Given the description of an element on the screen output the (x, y) to click on. 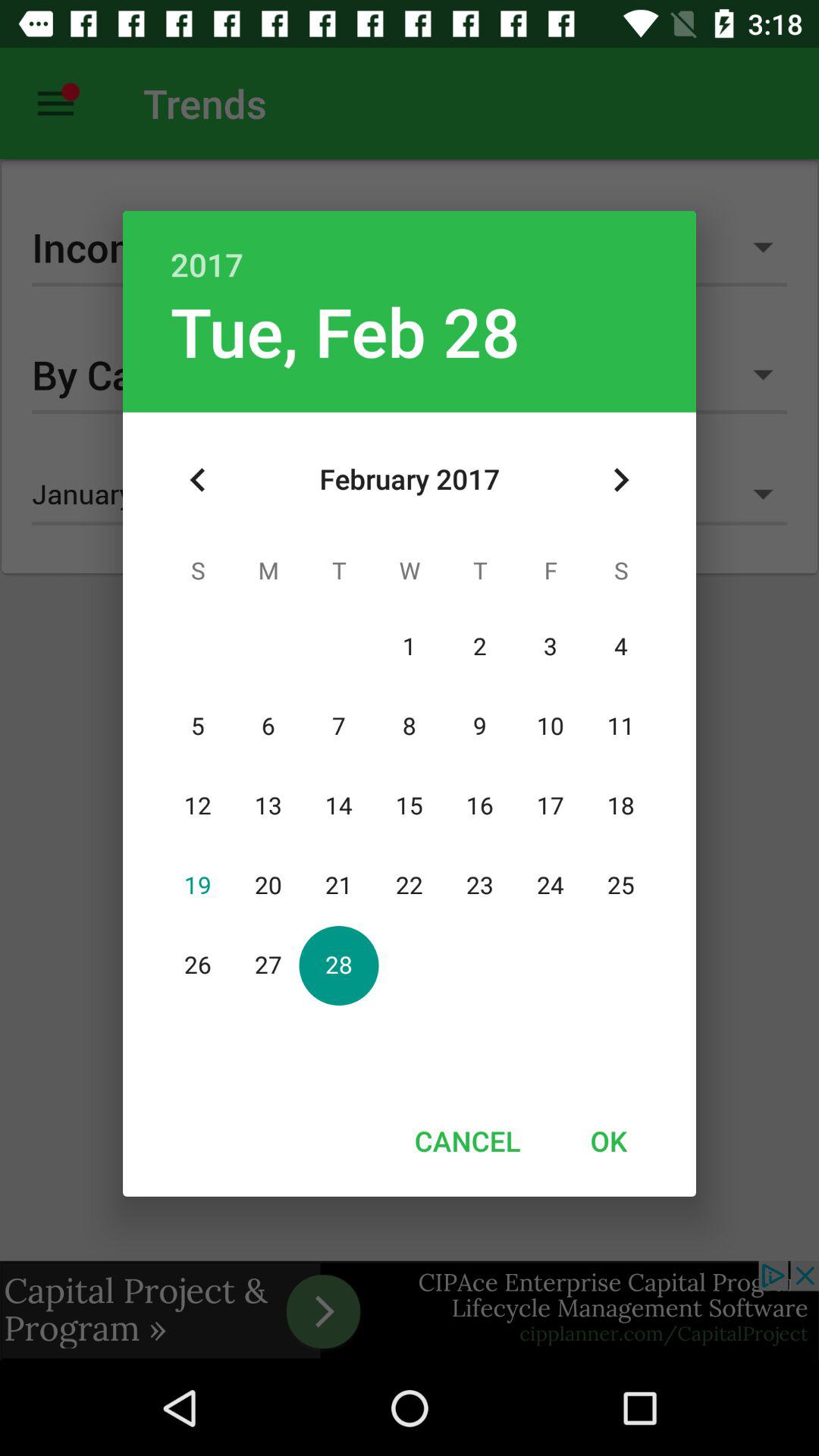
open icon above the tue, feb 28 (409, 248)
